Given the description of an element on the screen output the (x, y) to click on. 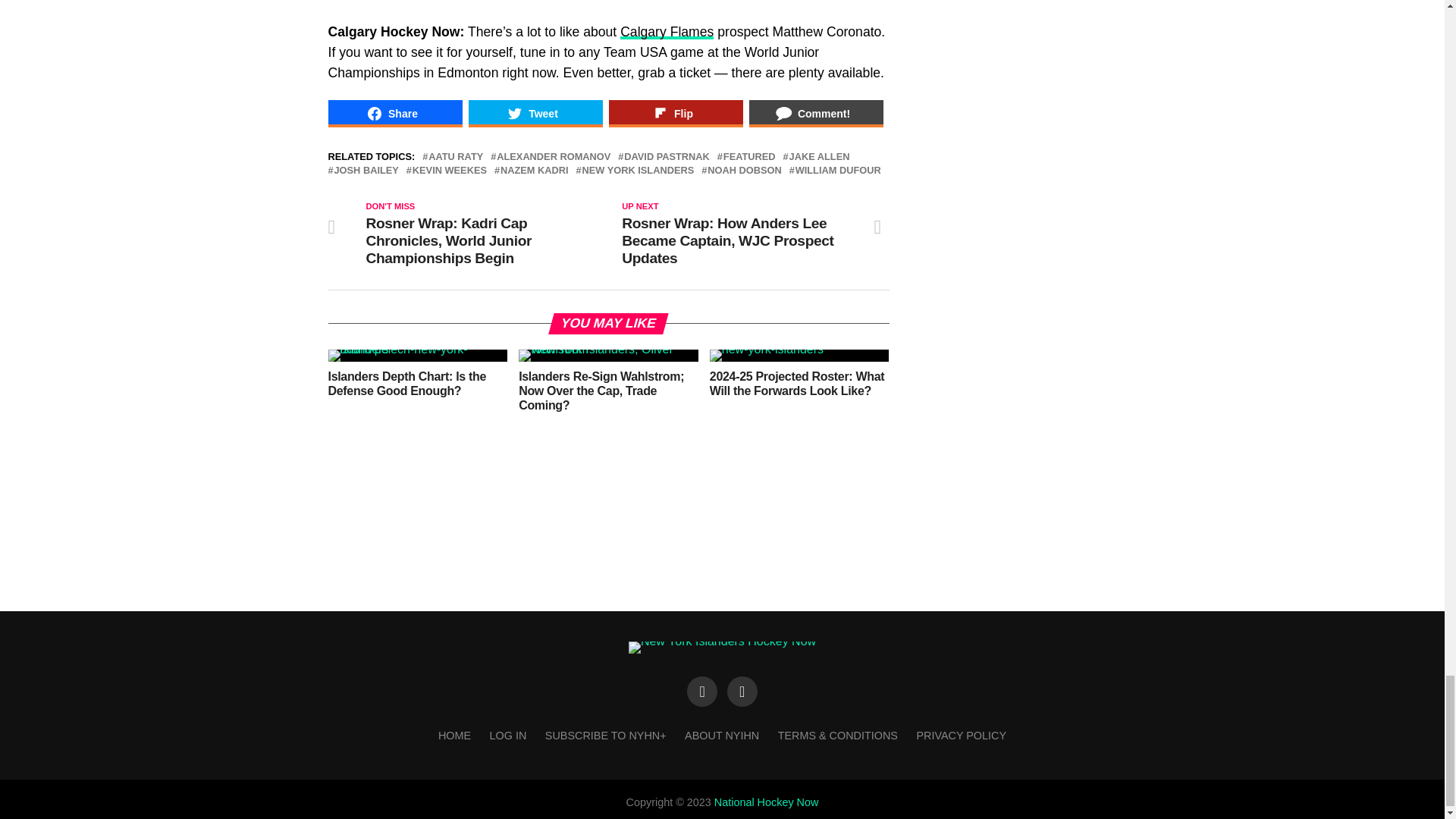
Share on Share (394, 113)
Share on Tweet (535, 113)
Share on Comment! (816, 113)
Share on Flip (675, 113)
